Given the description of an element on the screen output the (x, y) to click on. 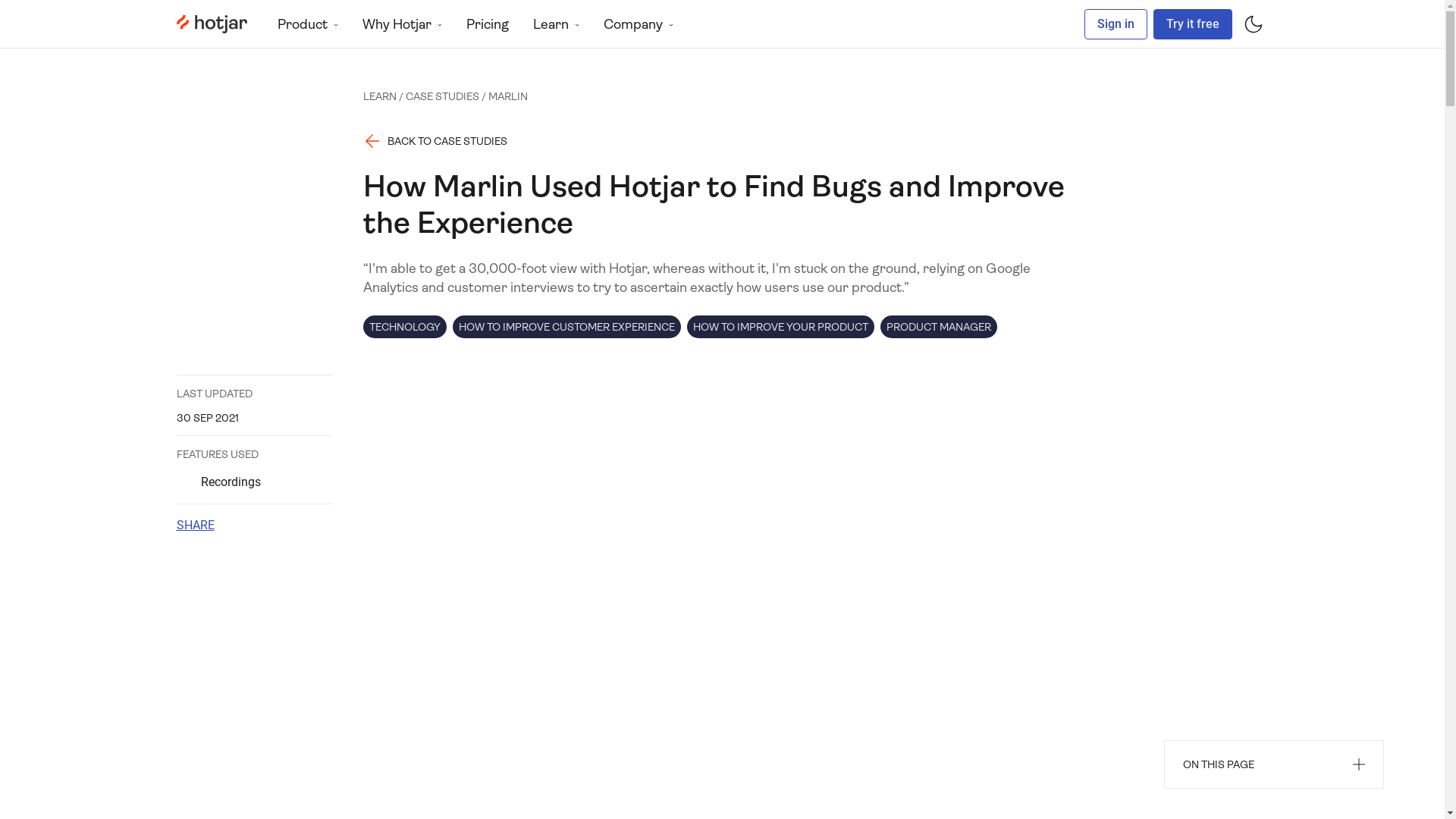
Why Hotjar Element type: text (402, 24)
Sign in Element type: text (1115, 24)
Pricing Element type: text (486, 24)
BACK TO CASE STUDIES Element type: text (435, 140)
Hotjar Logo Element type: text (210, 24)
ON THIS PAGE Element type: text (1273, 763)
Learn Element type: text (555, 24)
Company Element type: text (638, 24)
Product Element type: text (307, 24)
SHARE Element type: text (194, 525)
Recordings Element type: text (253, 482)
Try it free Element type: text (1191, 24)
Toggle dark mode Element type: text (1252, 24)
